Given the description of an element on the screen output the (x, y) to click on. 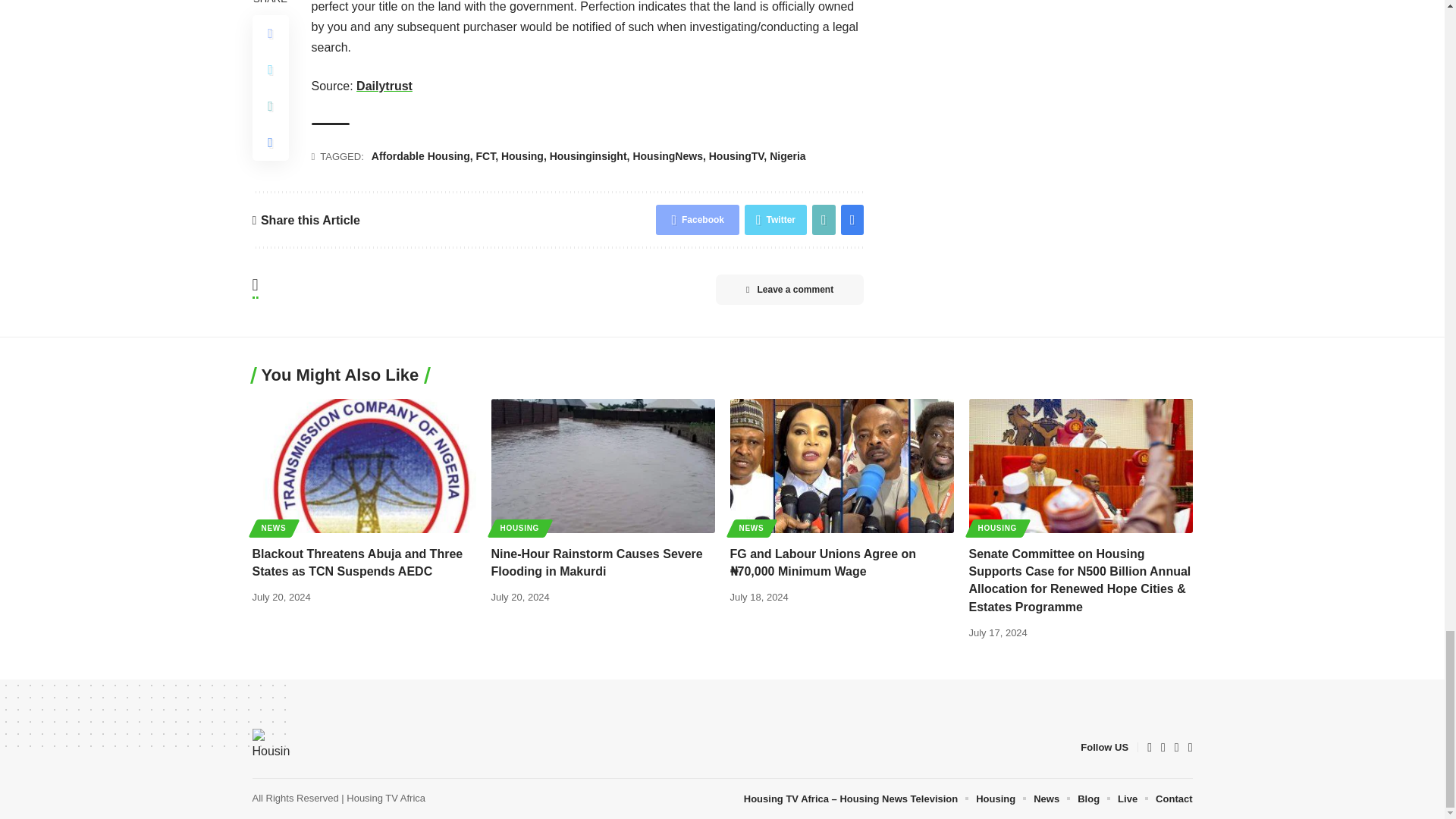
Housing TV Africa (270, 747)
Nine-Hour Rainstorm Causes Severe Flooding in Makurdi (603, 465)
